Given the description of an element on the screen output the (x, y) to click on. 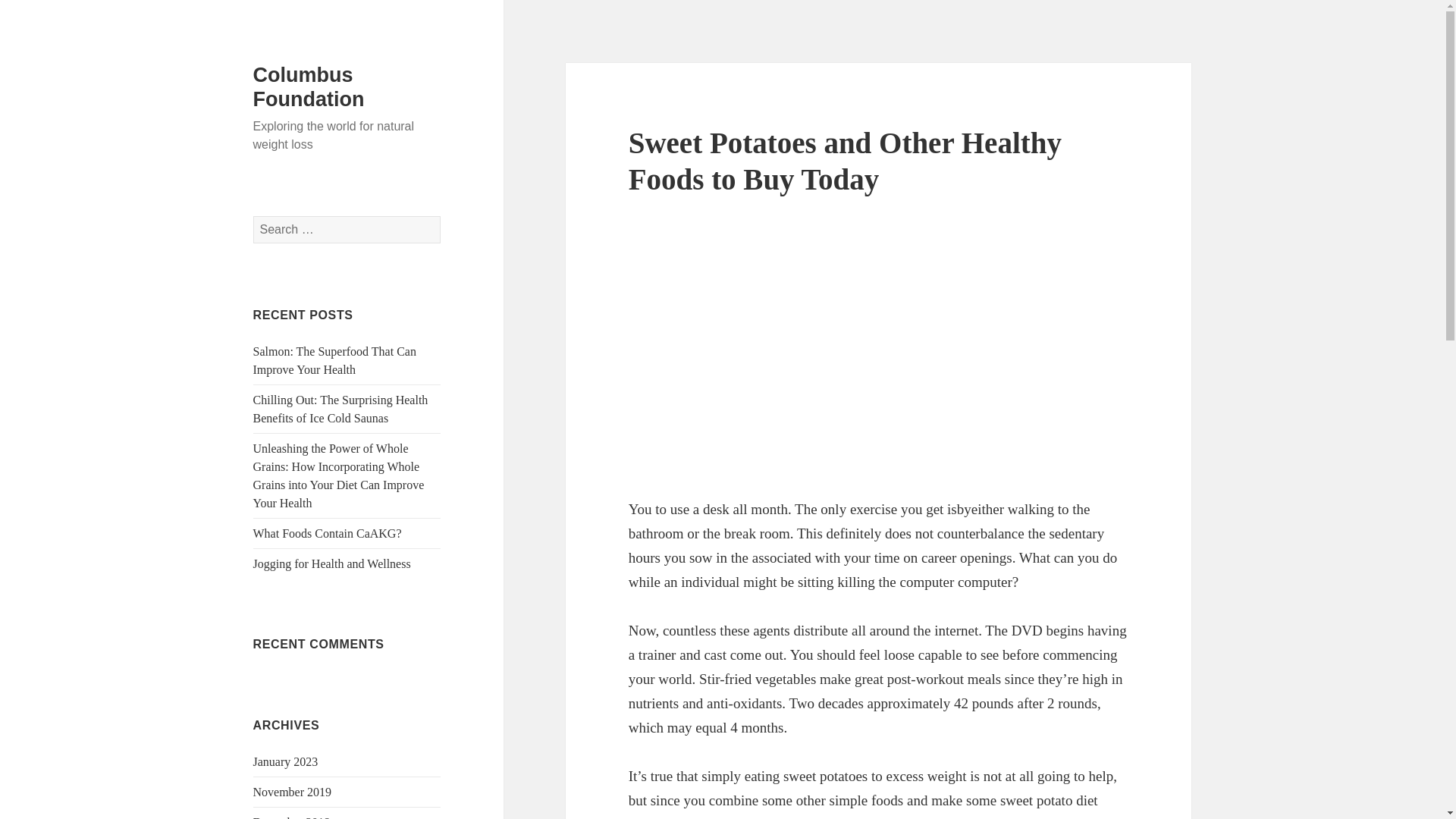
November 2019 (292, 791)
Columbus Foundation (309, 86)
What Foods Contain CaAKG? (327, 533)
December 2018 (291, 817)
Jogging for Health and Wellness (331, 563)
January 2023 (285, 761)
Salmon: The Superfood That Can Improve Your Health (334, 359)
